Given the description of an element on the screen output the (x, y) to click on. 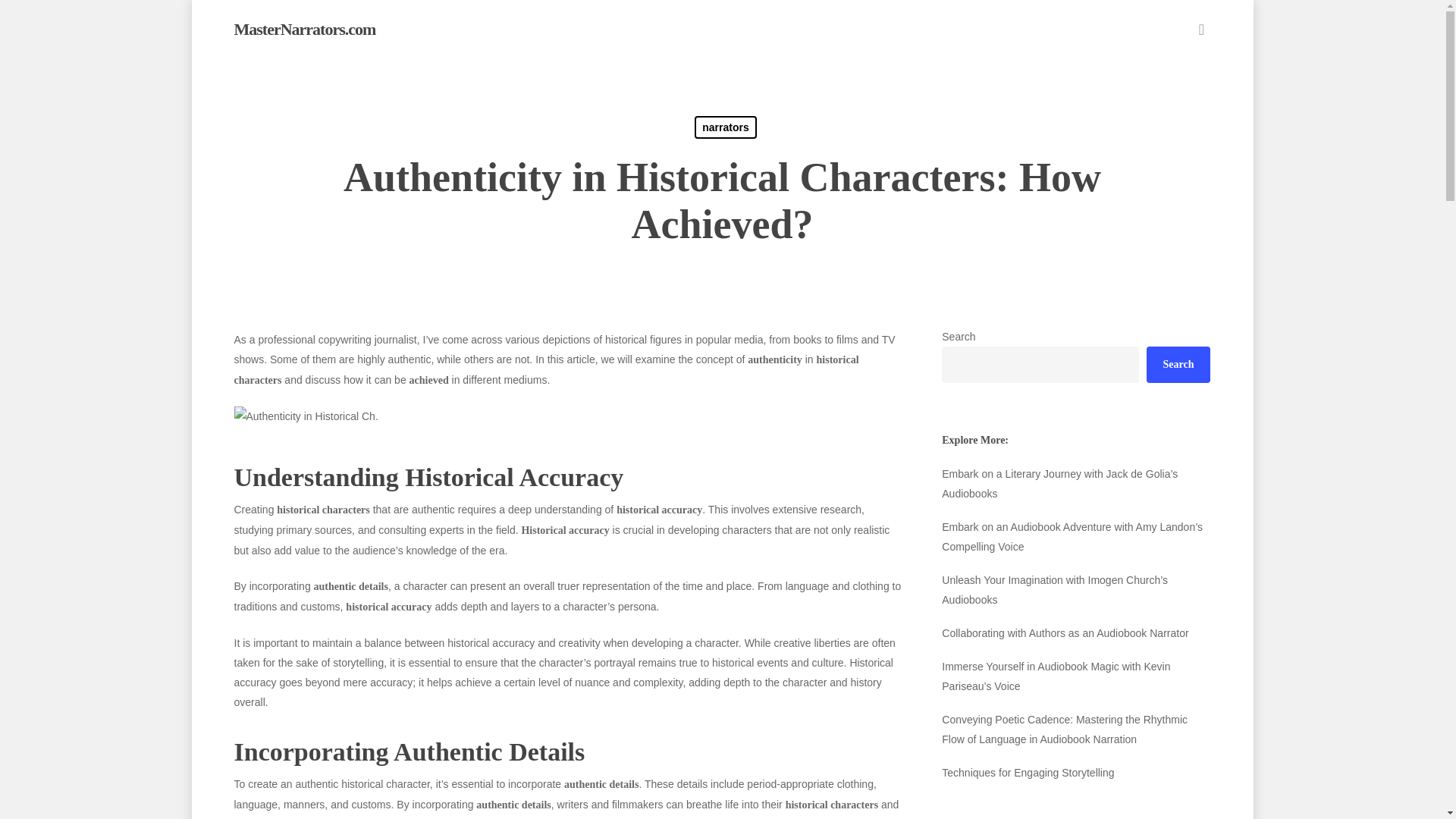
search (1200, 28)
Search (1179, 364)
Techniques for Engaging Storytelling (1075, 772)
MasterNarrators.com (303, 29)
Collaborating with Authors as an Audiobook Narrator (1075, 632)
narrators (724, 127)
